Given the description of an element on the screen output the (x, y) to click on. 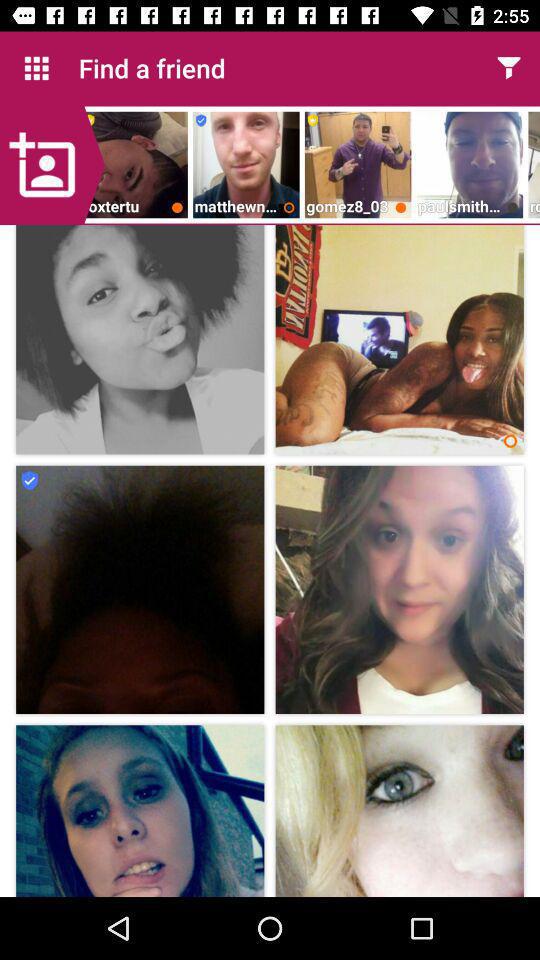
find a match (508, 67)
